Given the description of an element on the screen output the (x, y) to click on. 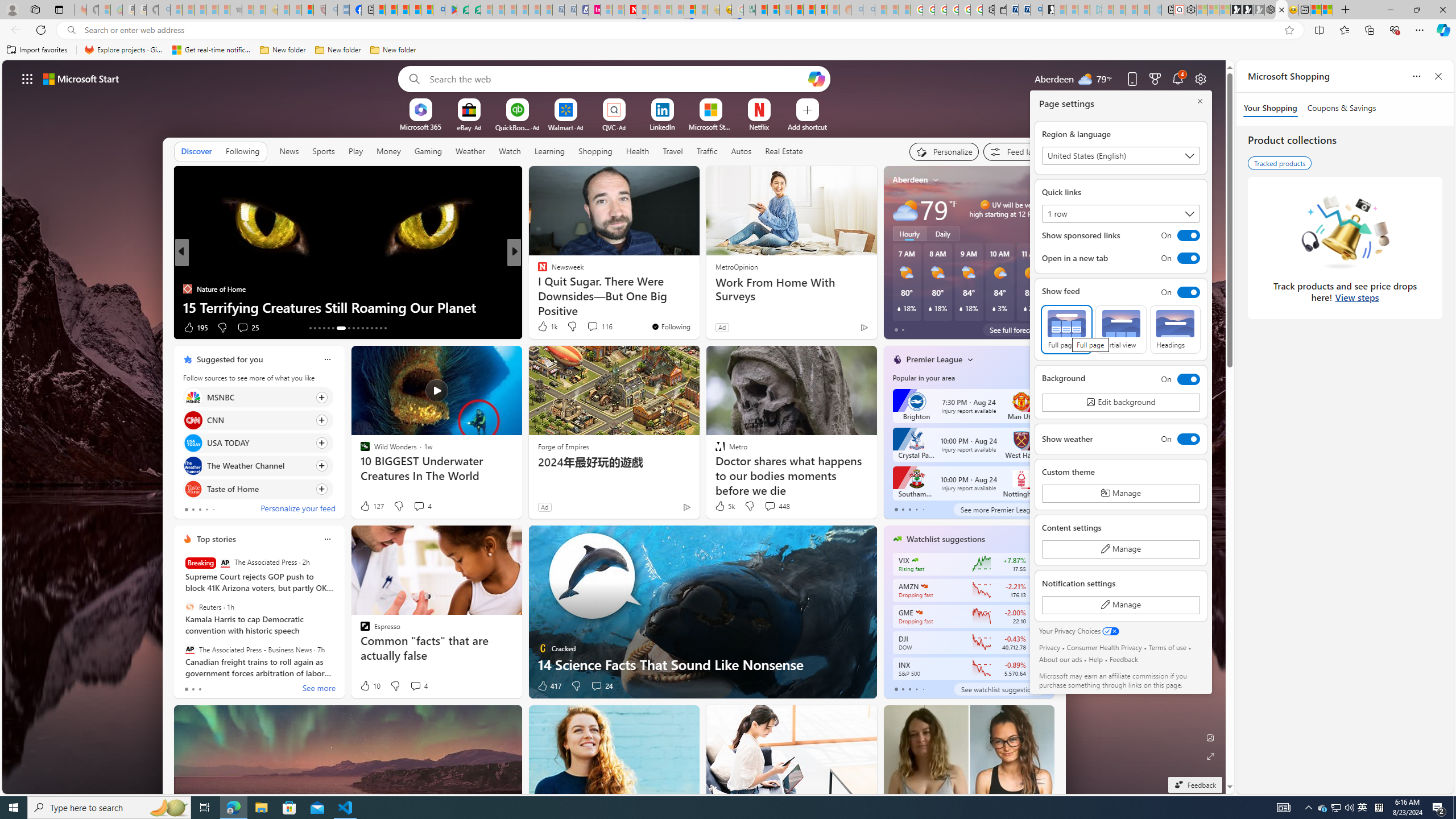
Microsoft Word - consumer-privacy address update 2.2021 (475, 9)
Real Estate (783, 151)
tab-2 (908, 689)
next (1047, 252)
Partial view (1120, 328)
View comments 307 Comment (595, 327)
Work From Home With Surveys (790, 289)
Expand background (1210, 756)
I Lost 30 Pounds While Eating These Popular Foods (697, 307)
